Given the description of an element on the screen output the (x, y) to click on. 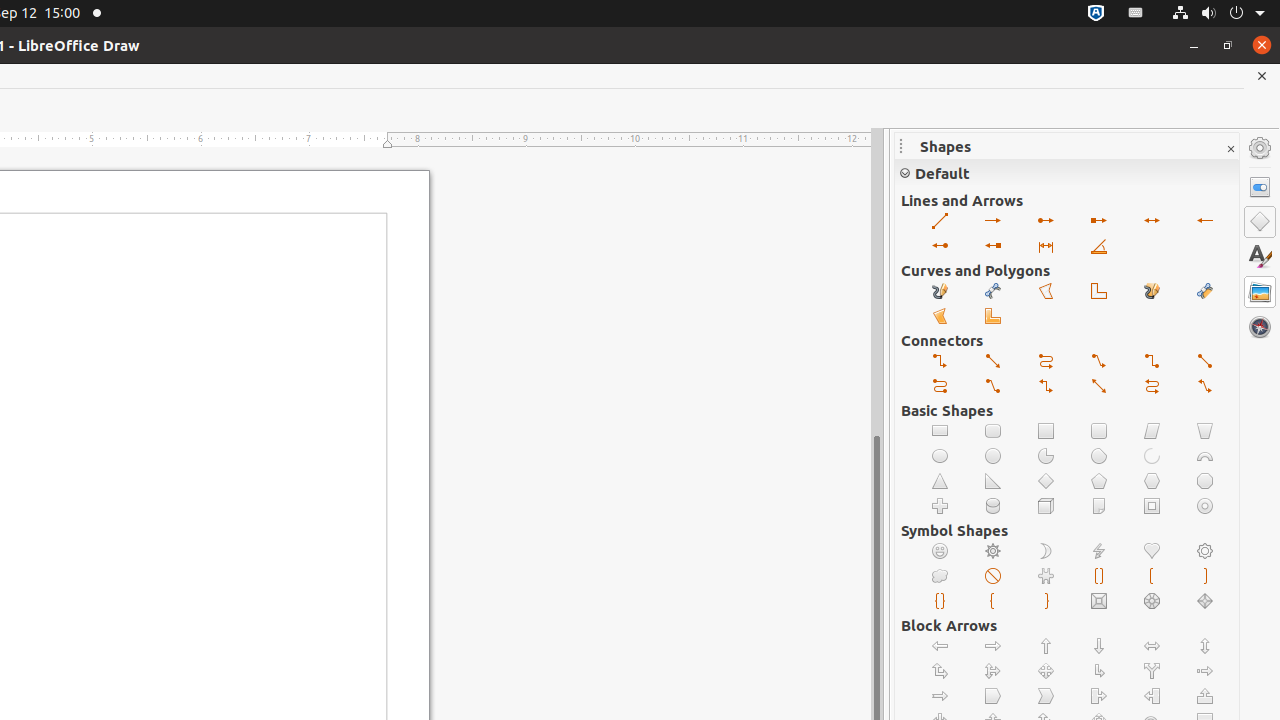
Left Arrow Element type: list-item (940, 646)
Circle Element type: list-item (993, 456)
Shapes Element type: radio-button (1260, 222)
Straight Connector ends with Arrow Element type: list-item (993, 361)
Chevron Element type: list-item (1046, 696)
